Given the description of an element on the screen output the (x, y) to click on. 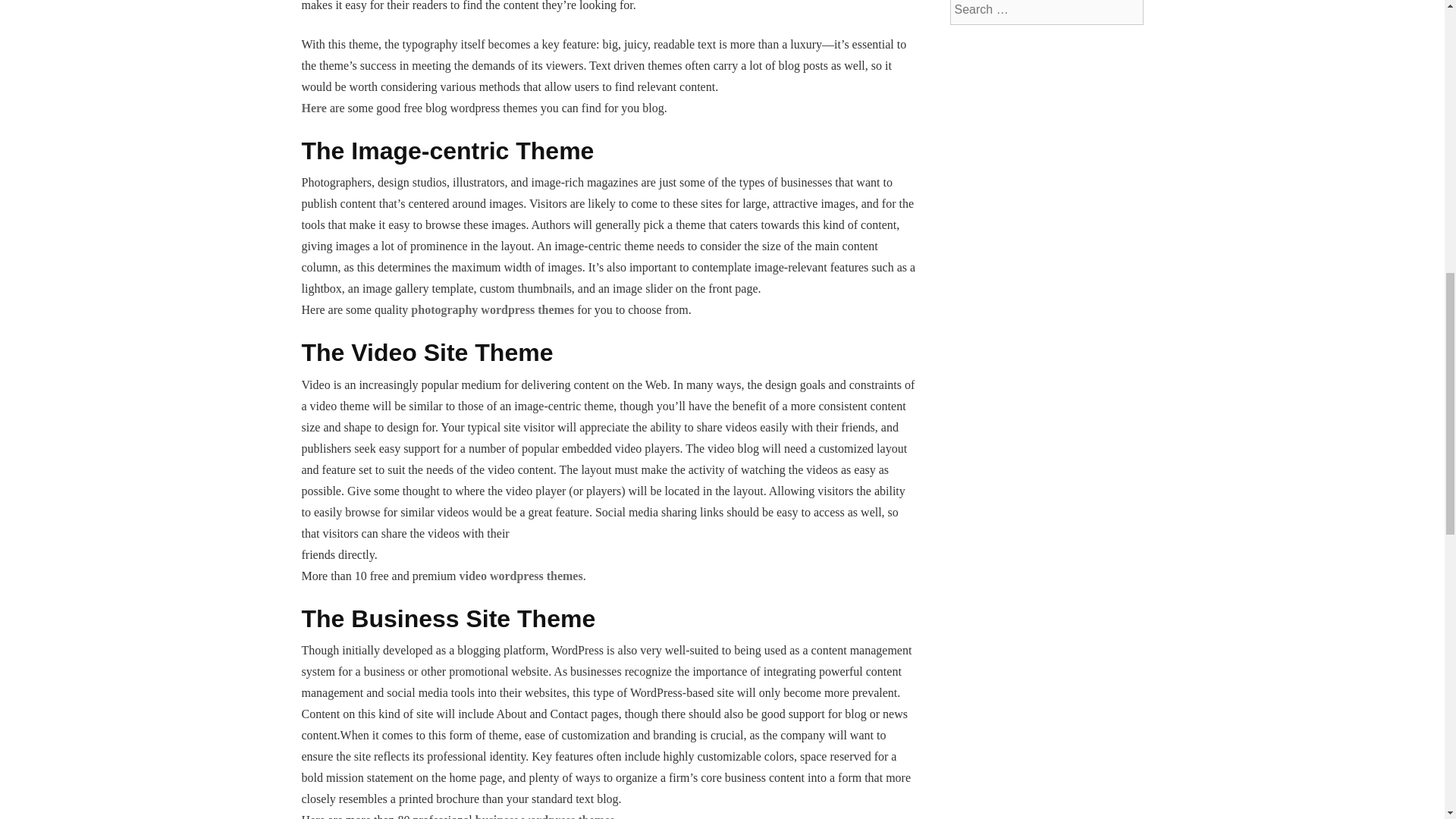
photography wordpress themes (491, 309)
business wordpress themes (545, 816)
Here (313, 107)
video wordpress themes (520, 575)
